Given the description of an element on the screen output the (x, y) to click on. 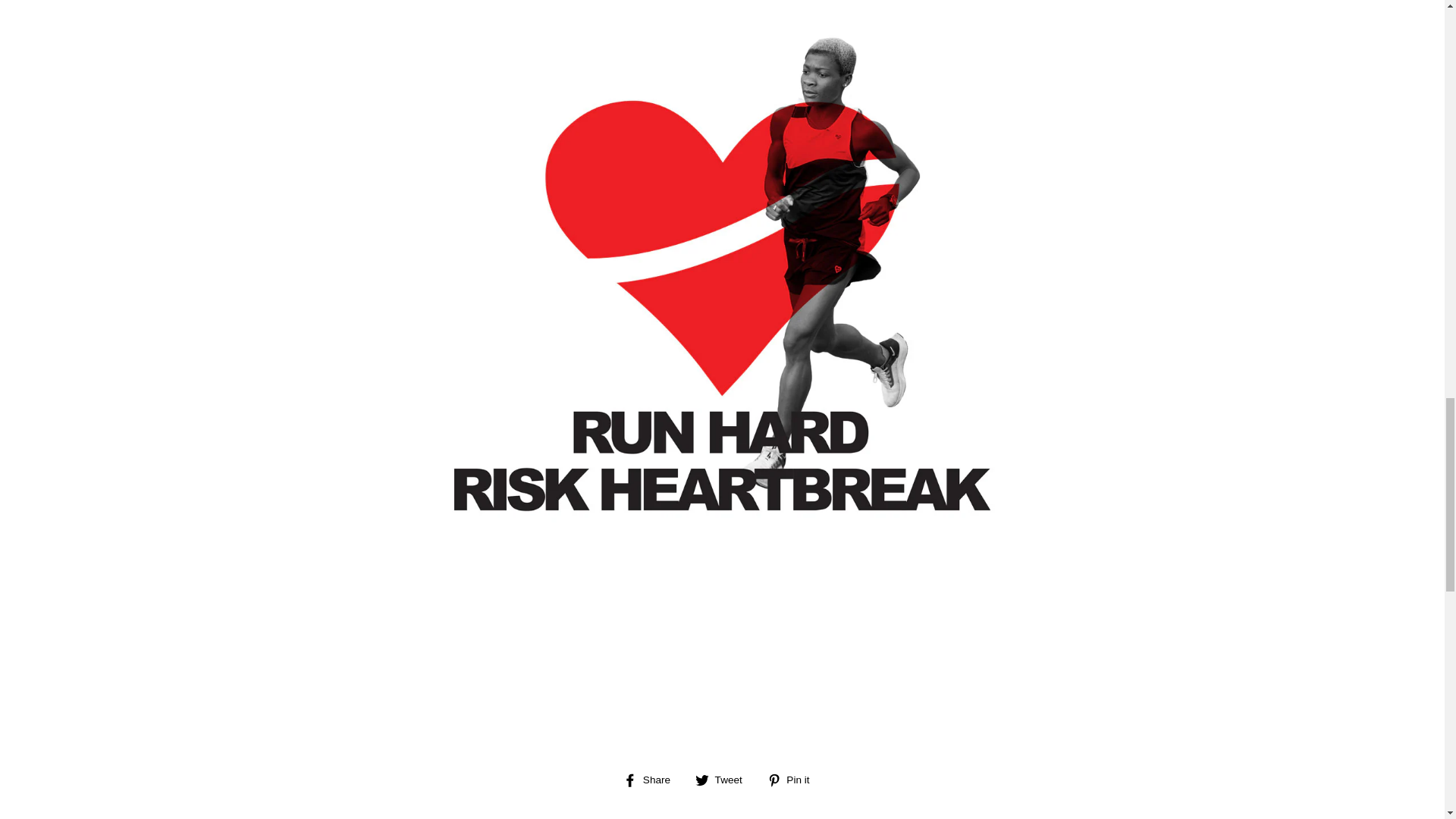
Tweet on Twitter (724, 779)
Pin on Pinterest (794, 779)
Share on Facebook (652, 779)
